Given the description of an element on the screen output the (x, y) to click on. 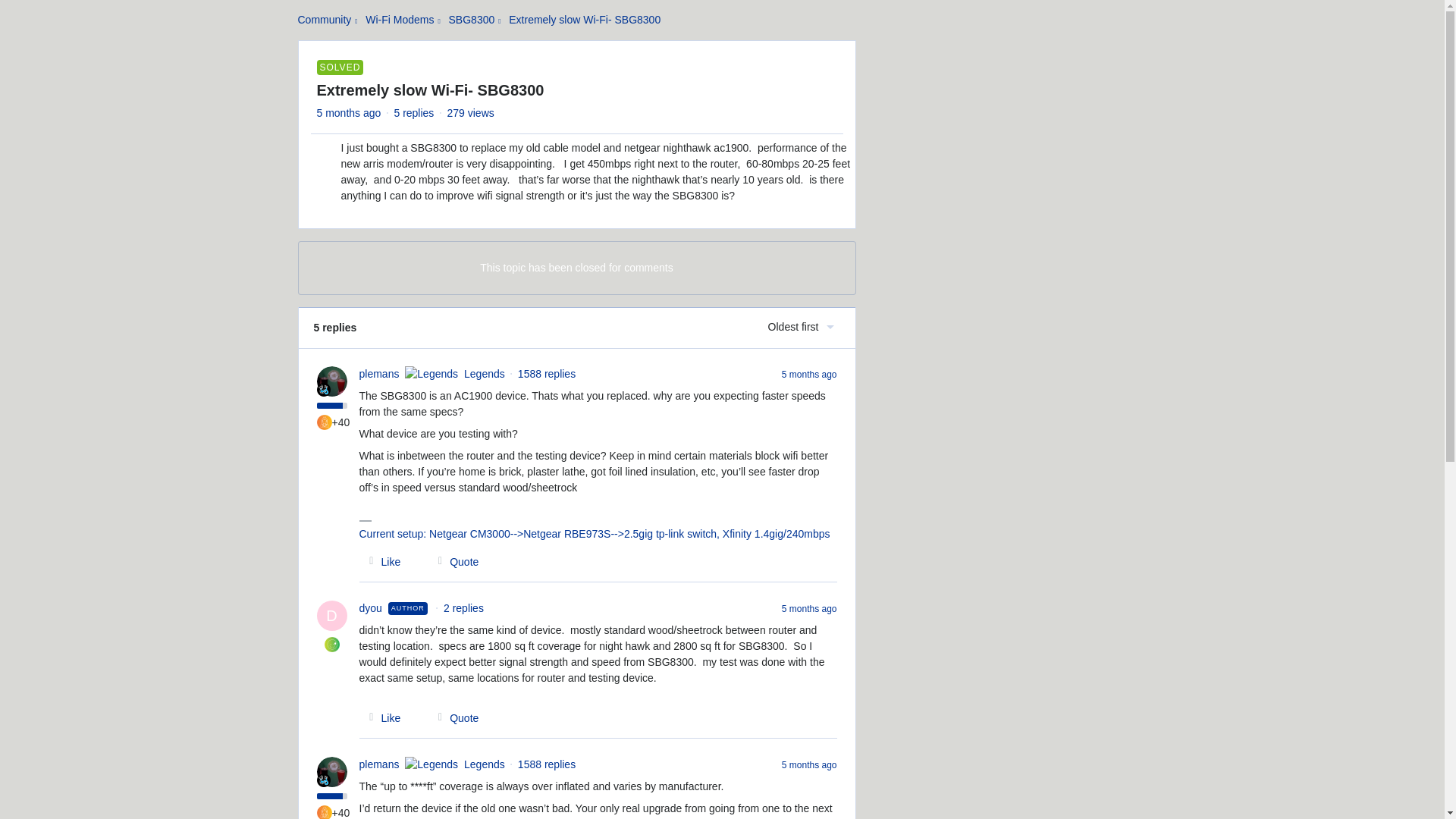
5 months ago (809, 764)
Like (380, 717)
Wi-Fi Modems (399, 19)
Legends (323, 388)
Gateway Guru (324, 421)
Legends (323, 780)
plemans (378, 764)
Quote (453, 717)
5 replies (413, 112)
plemans (378, 764)
